Given the description of an element on the screen output the (x, y) to click on. 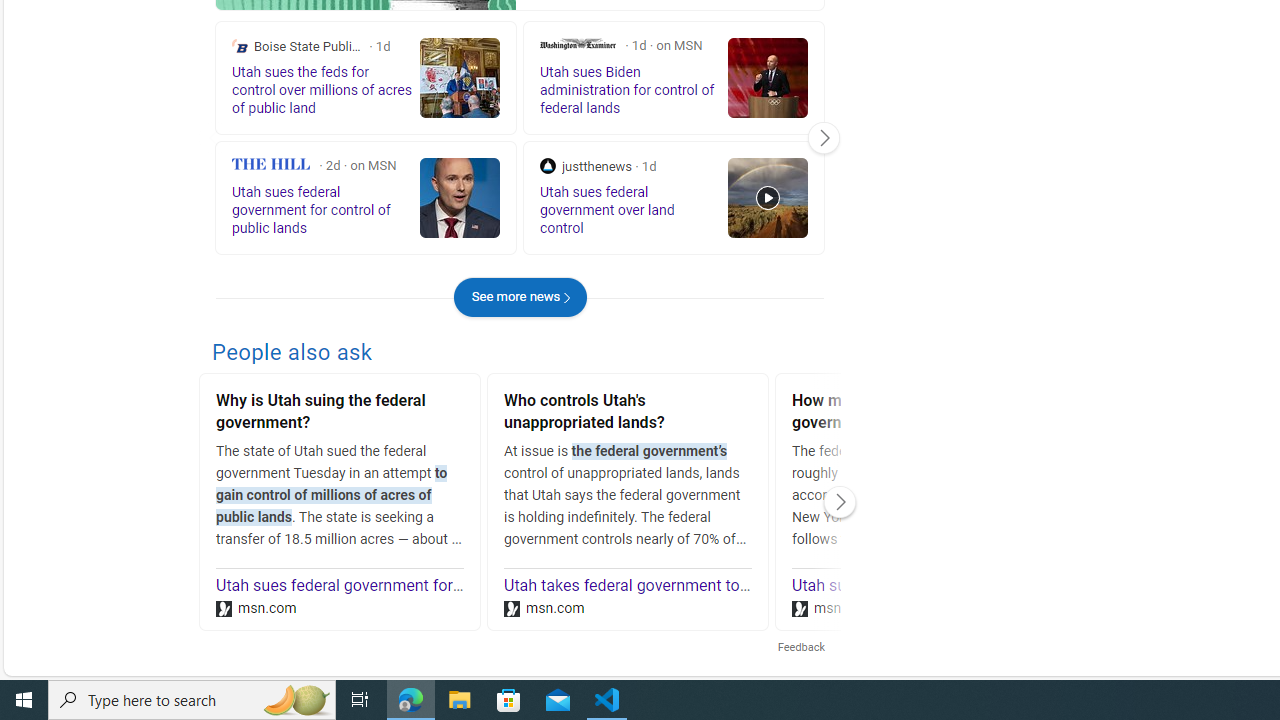
Utah takes federal government to court over control of land (713, 586)
How much land does the federal government own in Utah? (915, 414)
Boise State Public Radio (239, 46)
Why is Utah suing the federal government? (339, 414)
